Given the description of an element on the screen output the (x, y) to click on. 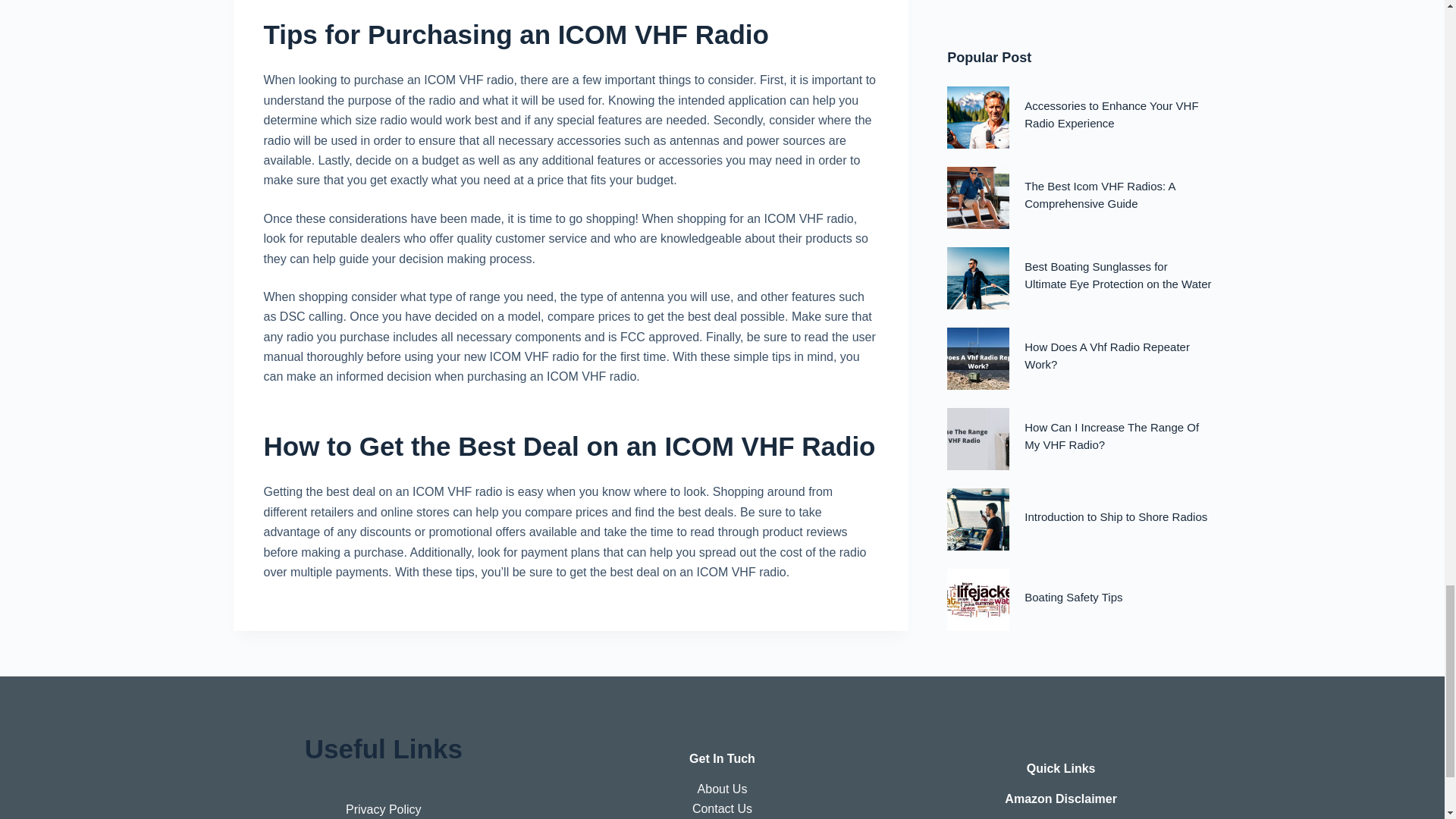
Privacy Policy (384, 809)
About Us (722, 788)
Amazon Disclaimer (1060, 798)
Contact Us (722, 808)
